Given the description of an element on the screen output the (x, y) to click on. 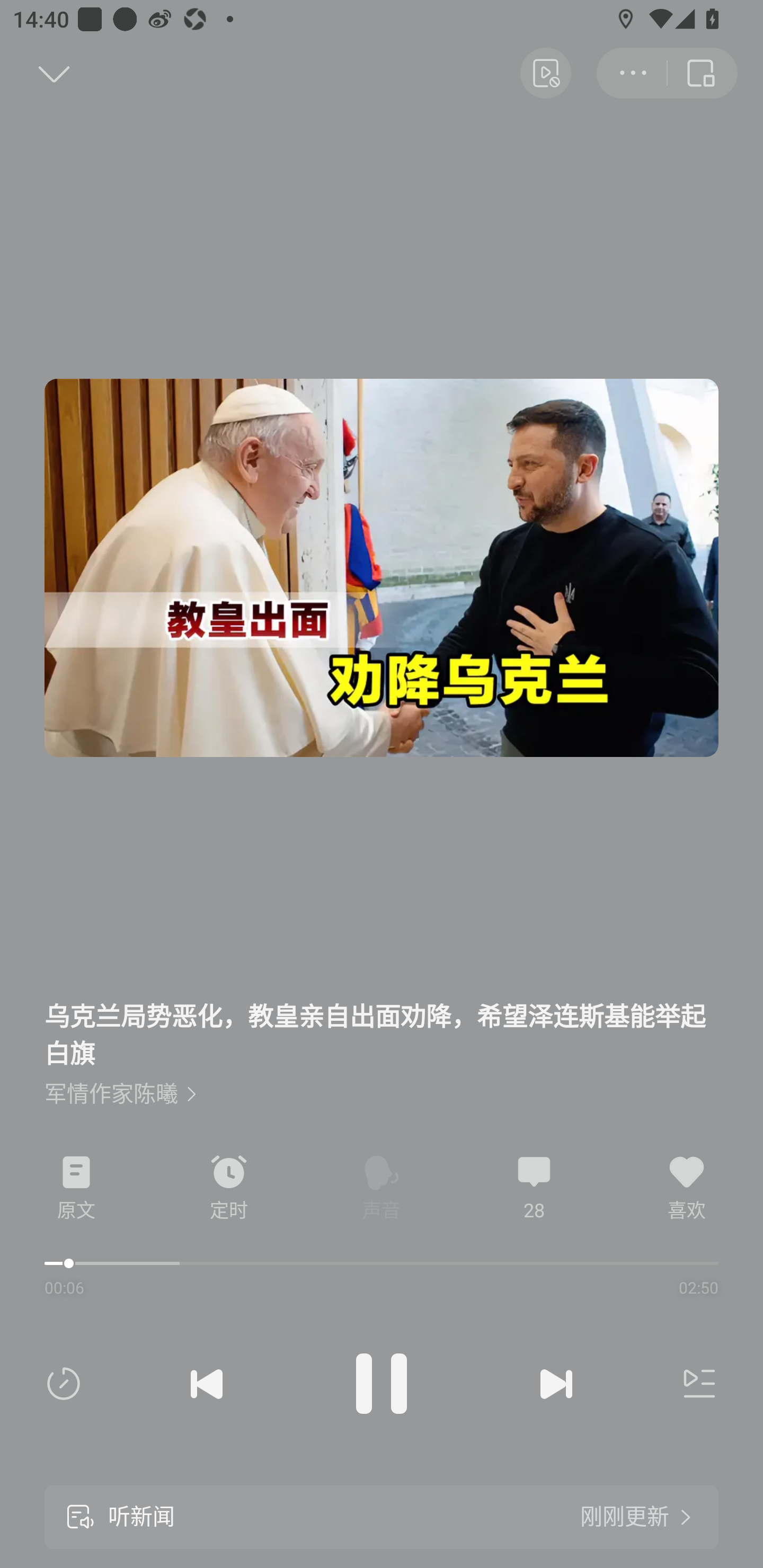
返回 (35, 72)
更多 (631, 72)
返回 (702, 72)
57.9万 上海女子买来2万的金手镯，竟是拉面师傅
做的！ 北青网前天 02:25 (381, 1086)
军情作家陈曦 (120, 1094)
原文 (76, 1188)
定时，按钮 定时 (228, 1188)
声音，音色按钮 声音 (381, 1188)
28条评论，按钮 28 (533, 1188)
喜欢，按钮 喜欢 (686, 1188)
暂停 (381, 1383)
倍速，按钮 (67, 1383)
列表，按钮 (695, 1383)
听新闻 刚刚更新 (381, 1516)
